Given the description of an element on the screen output the (x, y) to click on. 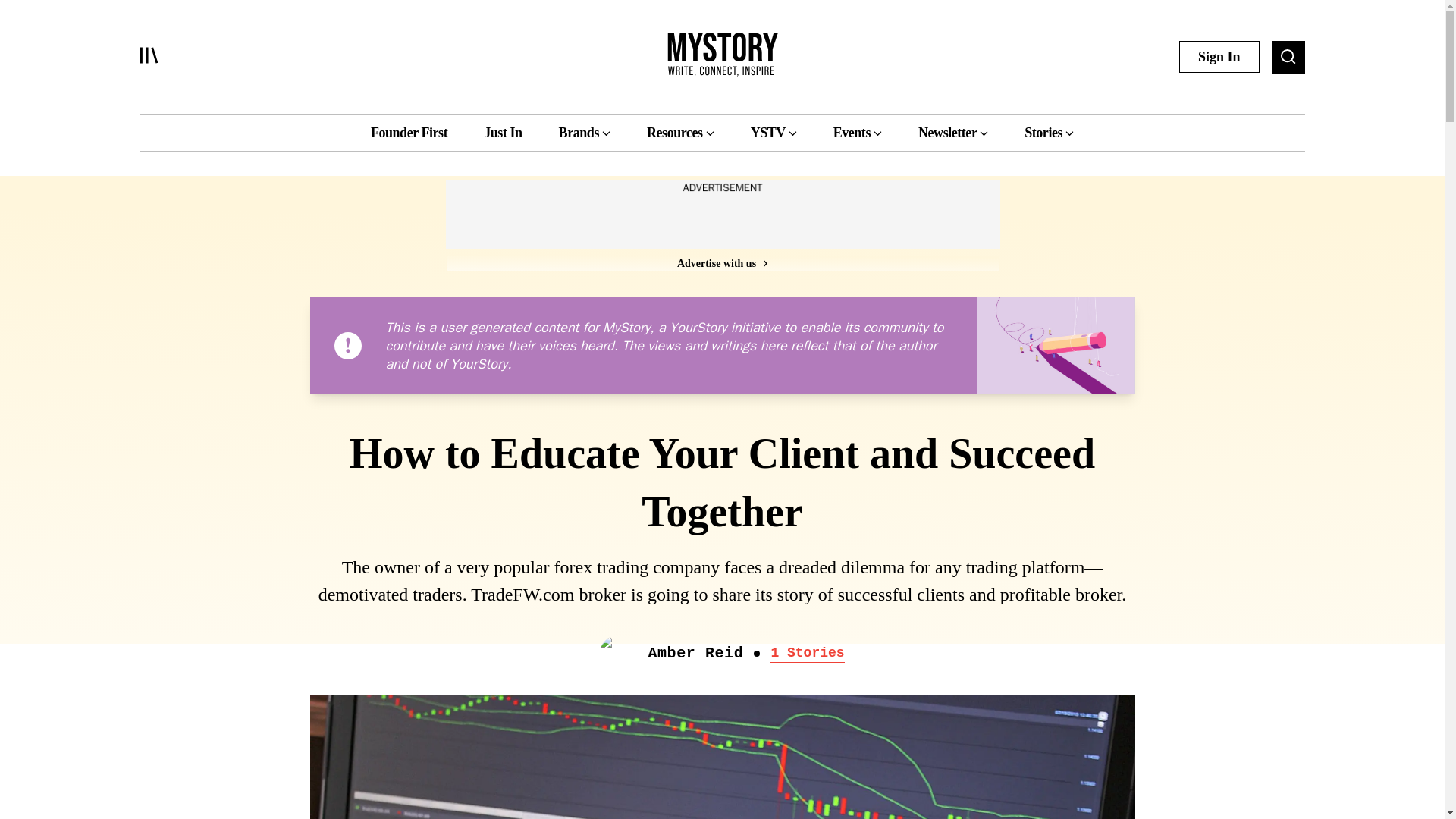
Advertise with us (721, 263)
Amber Reid (694, 653)
Just In (502, 132)
1 Stories (807, 653)
Founder First (408, 132)
